Given the description of an element on the screen output the (x, y) to click on. 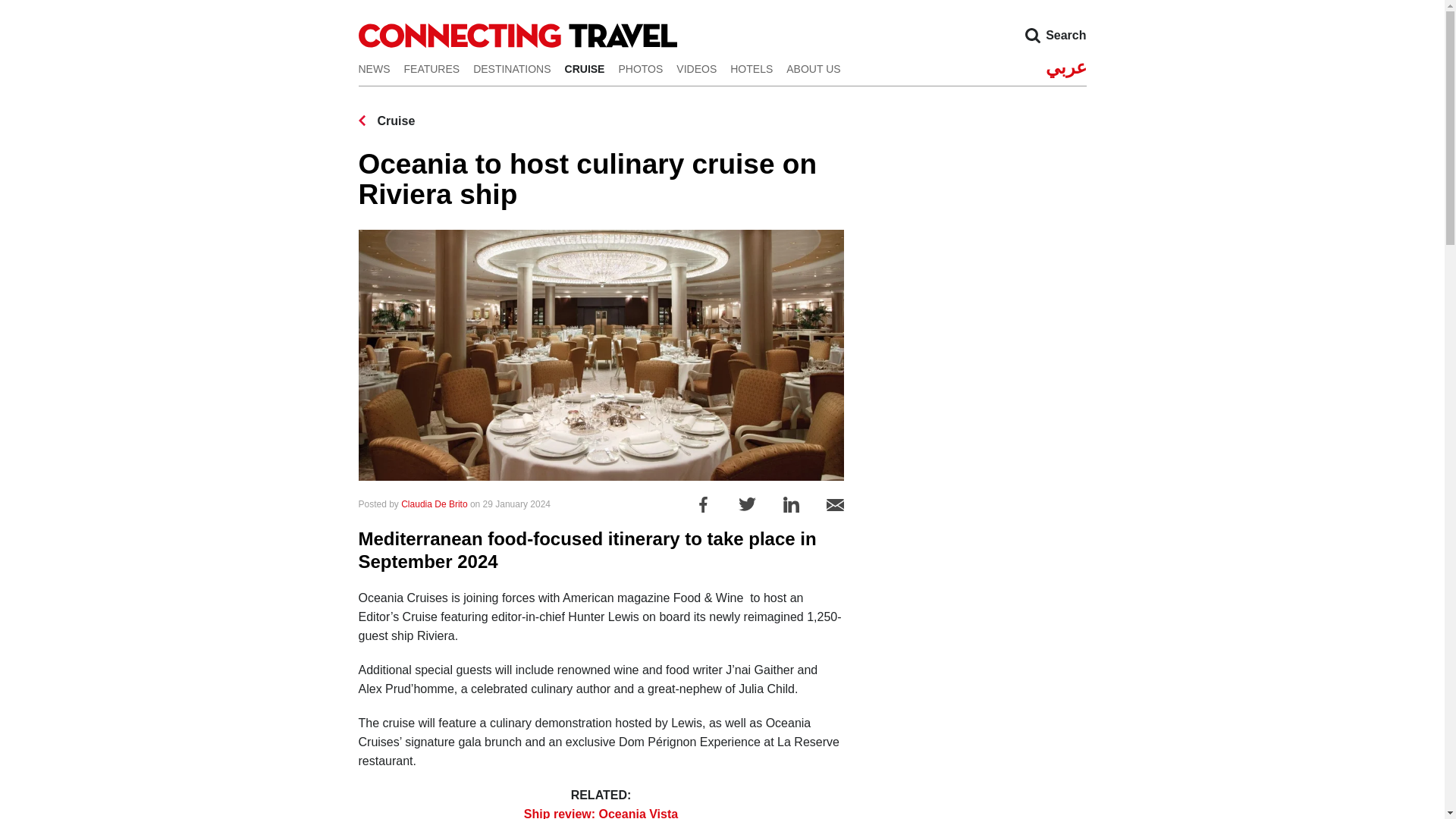
Share by email (835, 504)
HOTELS (751, 68)
Cruise (386, 121)
VIDEOS (696, 68)
Share on LinkedIn (791, 503)
PHOTOS (639, 68)
FEATURES (431, 68)
NEWS (374, 68)
Claudia De Brito (434, 503)
